Given the description of an element on the screen output the (x, y) to click on. 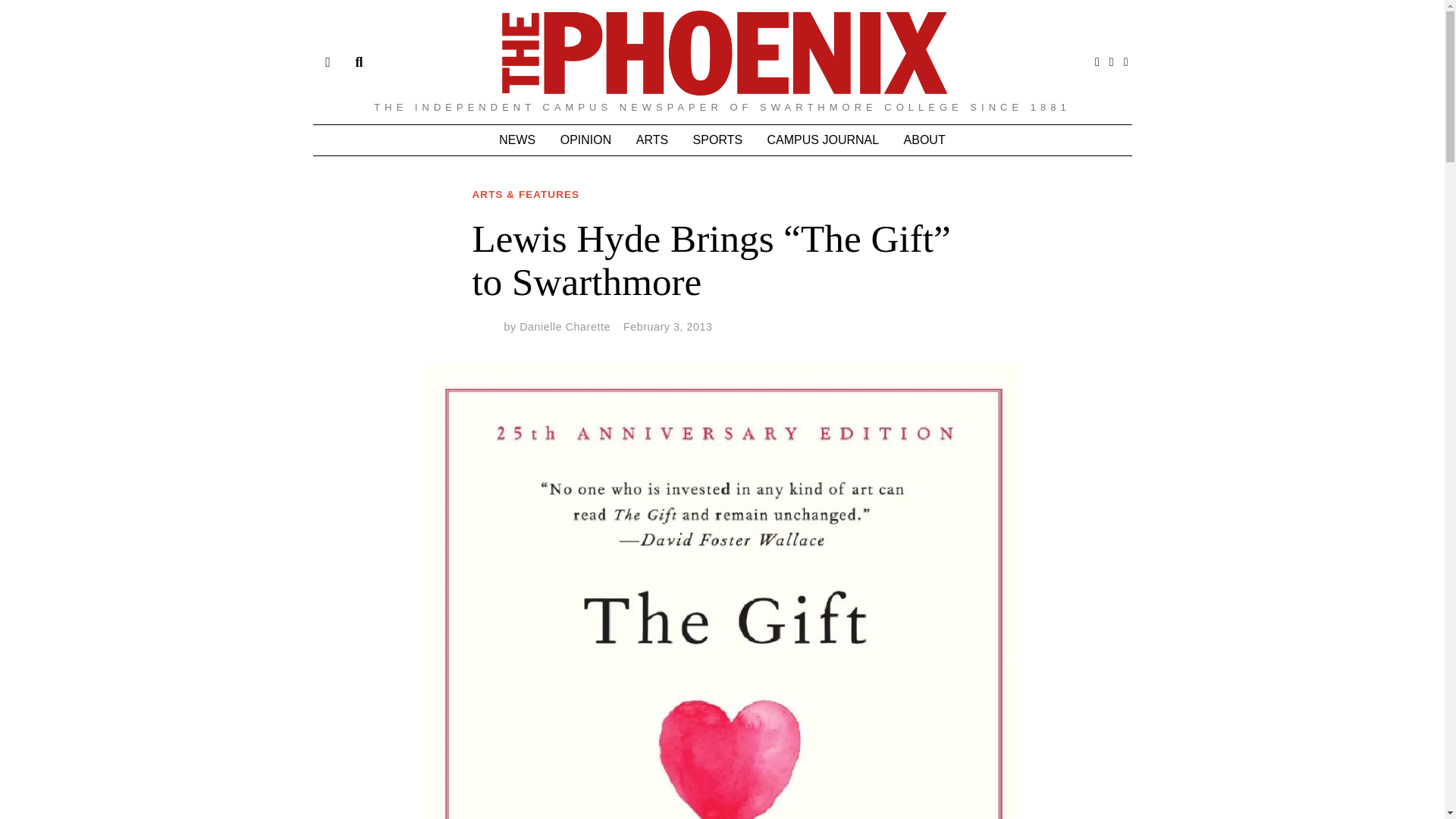
SPORTS (718, 140)
Danielle Charette (564, 326)
CAMPUS JOURNAL (823, 140)
ABOUT (924, 140)
ARTS (652, 140)
OPINION (586, 140)
NEWS (516, 140)
